Given the description of an element on the screen output the (x, y) to click on. 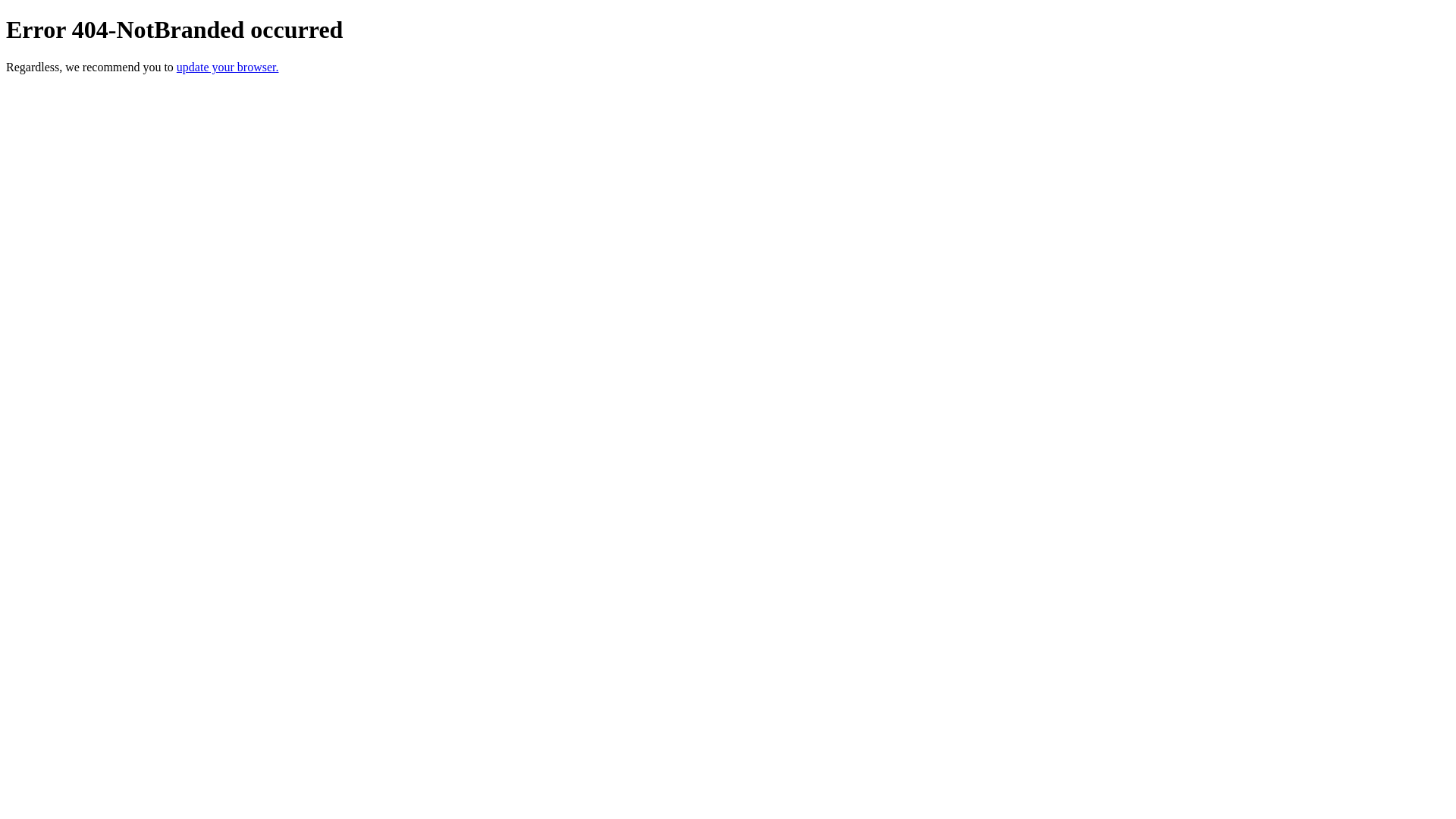
update your browser. Element type: text (227, 66)
